Given the description of an element on the screen output the (x, y) to click on. 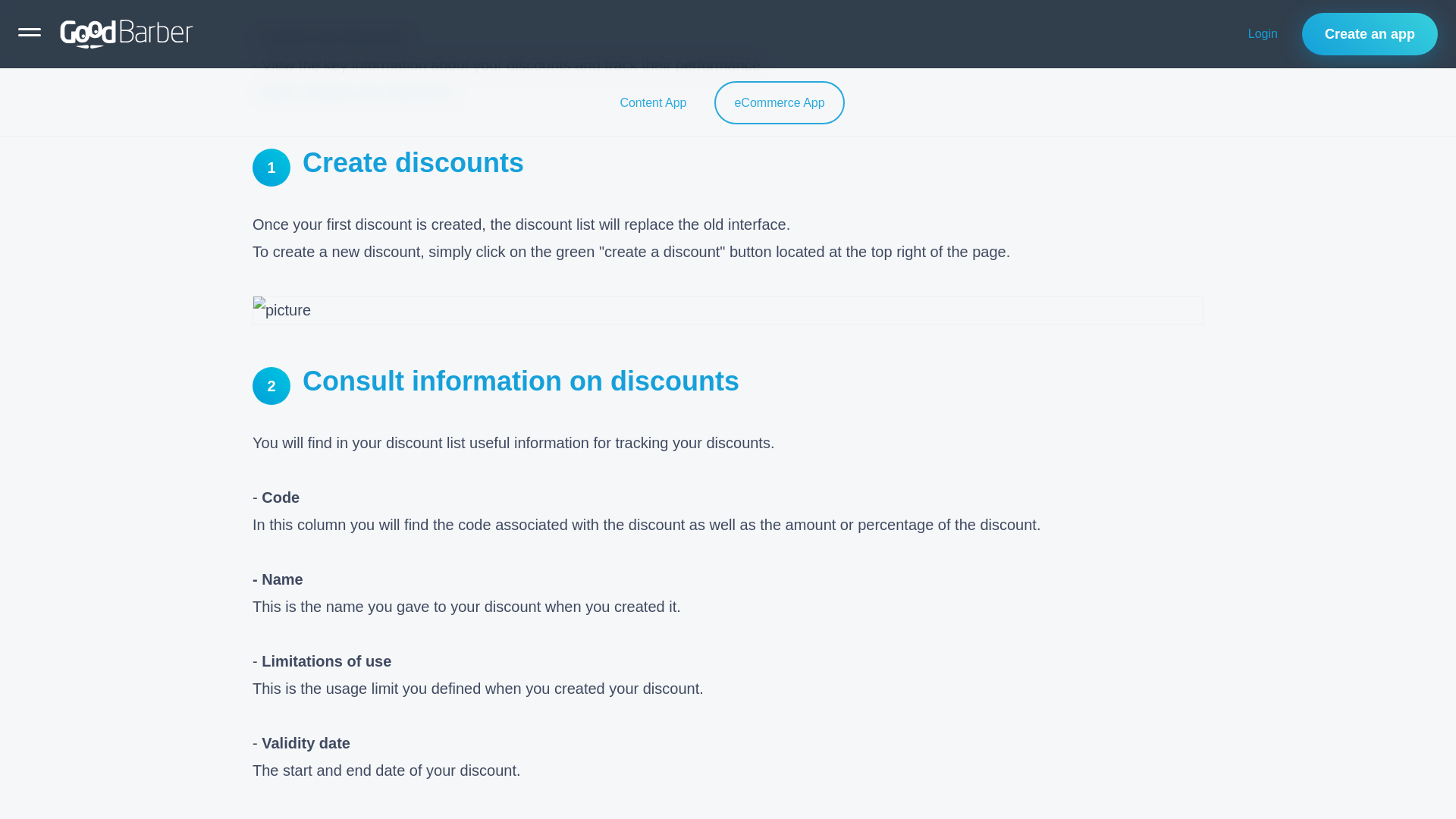
picture (727, 309)
